Given the description of an element on the screen output the (x, y) to click on. 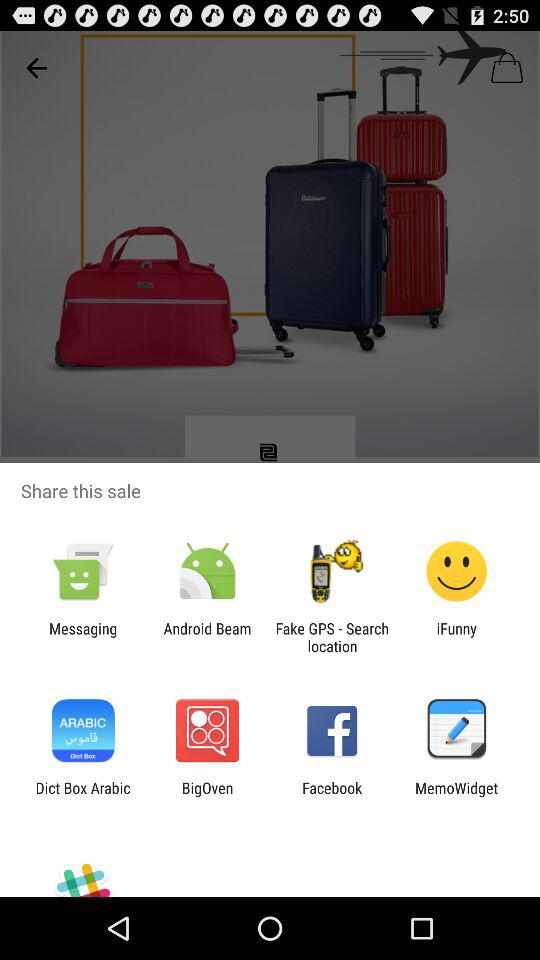
scroll until bigoven item (207, 796)
